Given the description of an element on the screen output the (x, y) to click on. 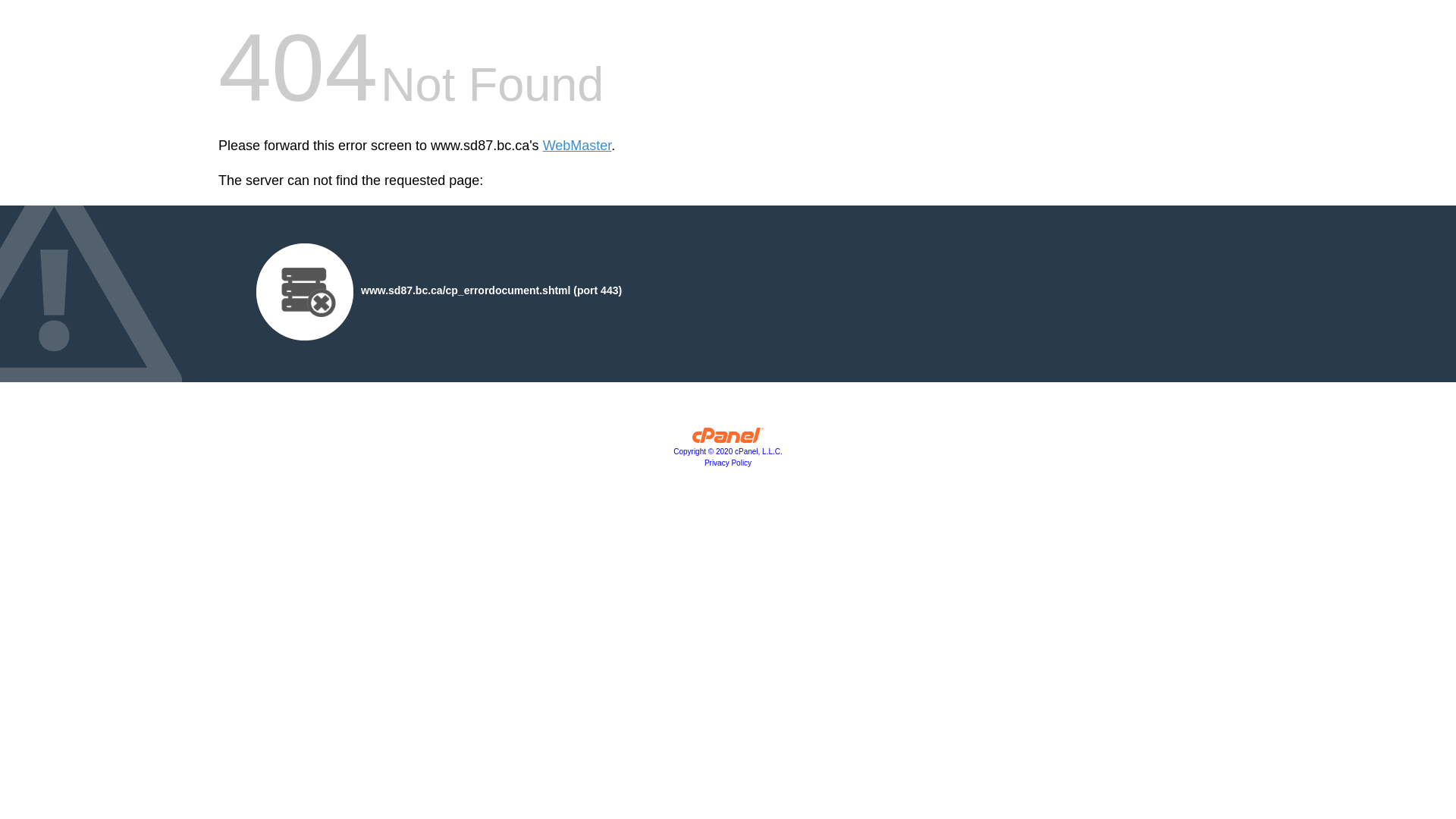
cPanel, Inc. Element type: hover (728, 439)
WebMaster Element type: text (576, 145)
Privacy Policy Element type: text (727, 462)
